Given the description of an element on the screen output the (x, y) to click on. 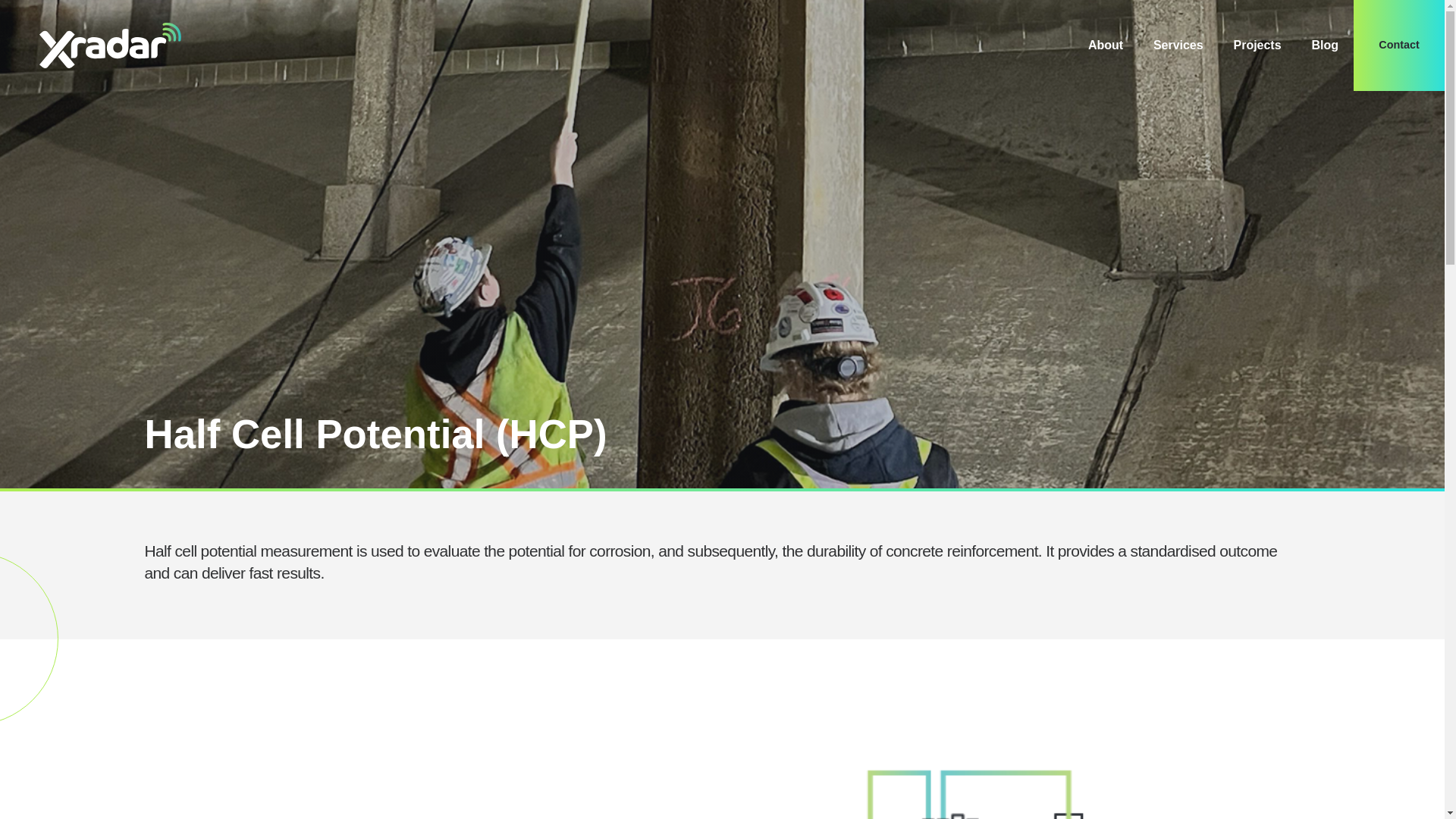
Contact (1398, 45)
Blog (1325, 45)
Projects (1257, 45)
About (1105, 45)
